Given the description of an element on the screen output the (x, y) to click on. 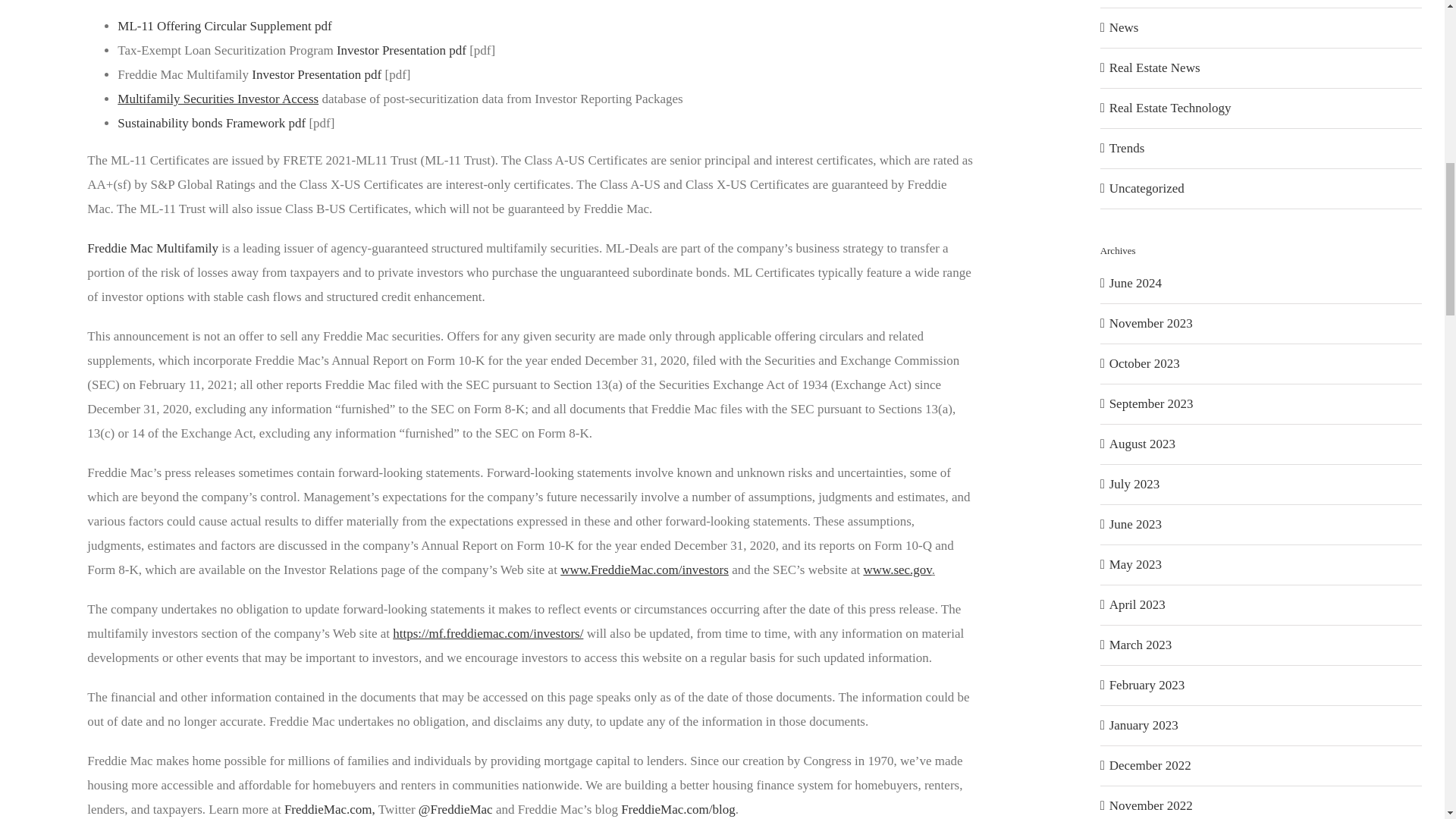
Multifamily Securities Investor Access (217, 98)
FreddieMac.com (327, 809)
www.sec.gov (897, 569)
Investor Presentation pdf (400, 50)
Freddie Mac Multifamily (152, 247)
ML-11 Offering Circular Supplement pdf (224, 25)
Sustainability bonds Framework pdf (211, 123)
Investor Presentation pdf (316, 74)
